Given the description of an element on the screen output the (x, y) to click on. 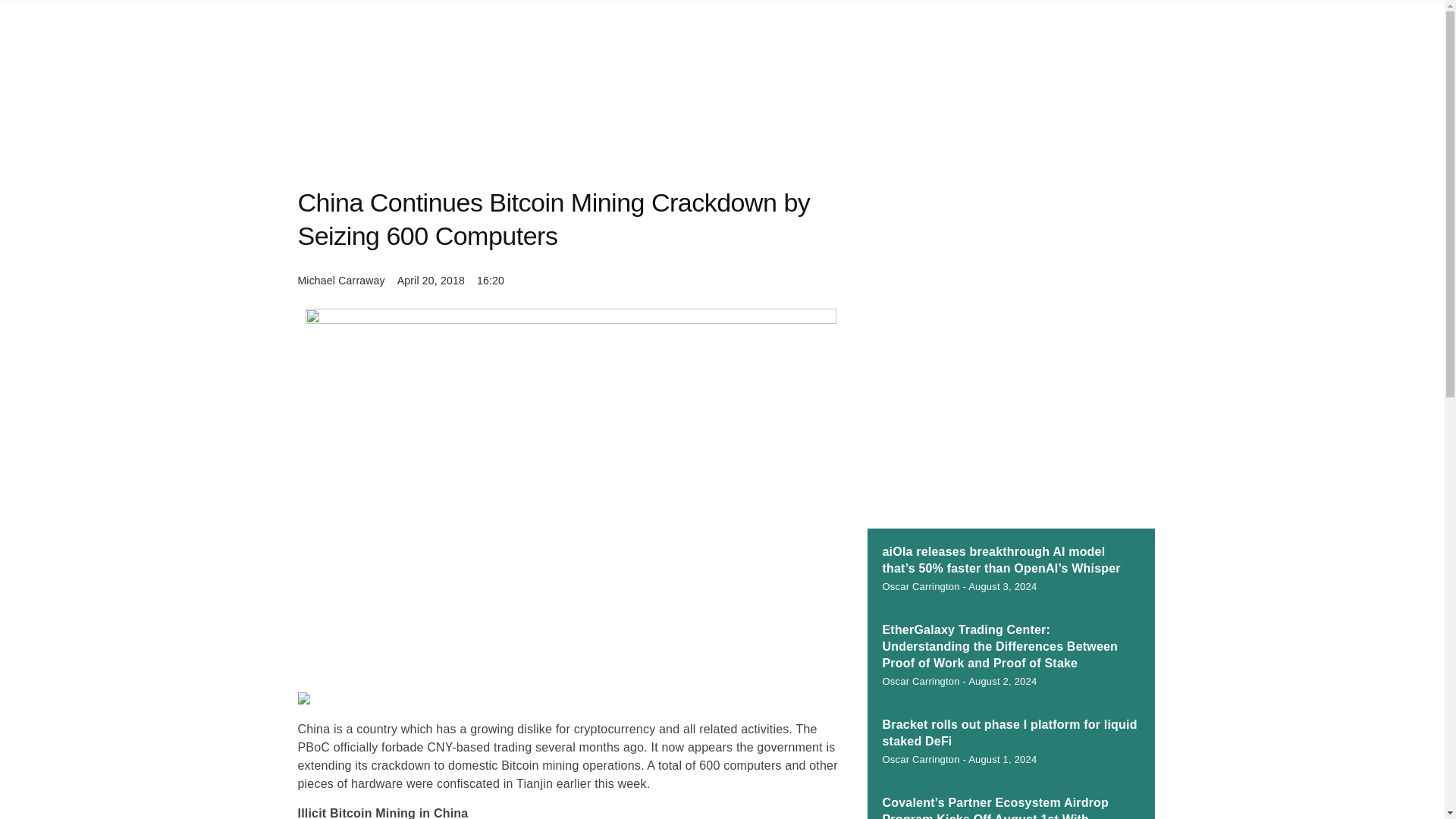
Bracket rolls out phase I platform for liquid staked DeFi (1009, 732)
